Given the description of an element on the screen output the (x, y) to click on. 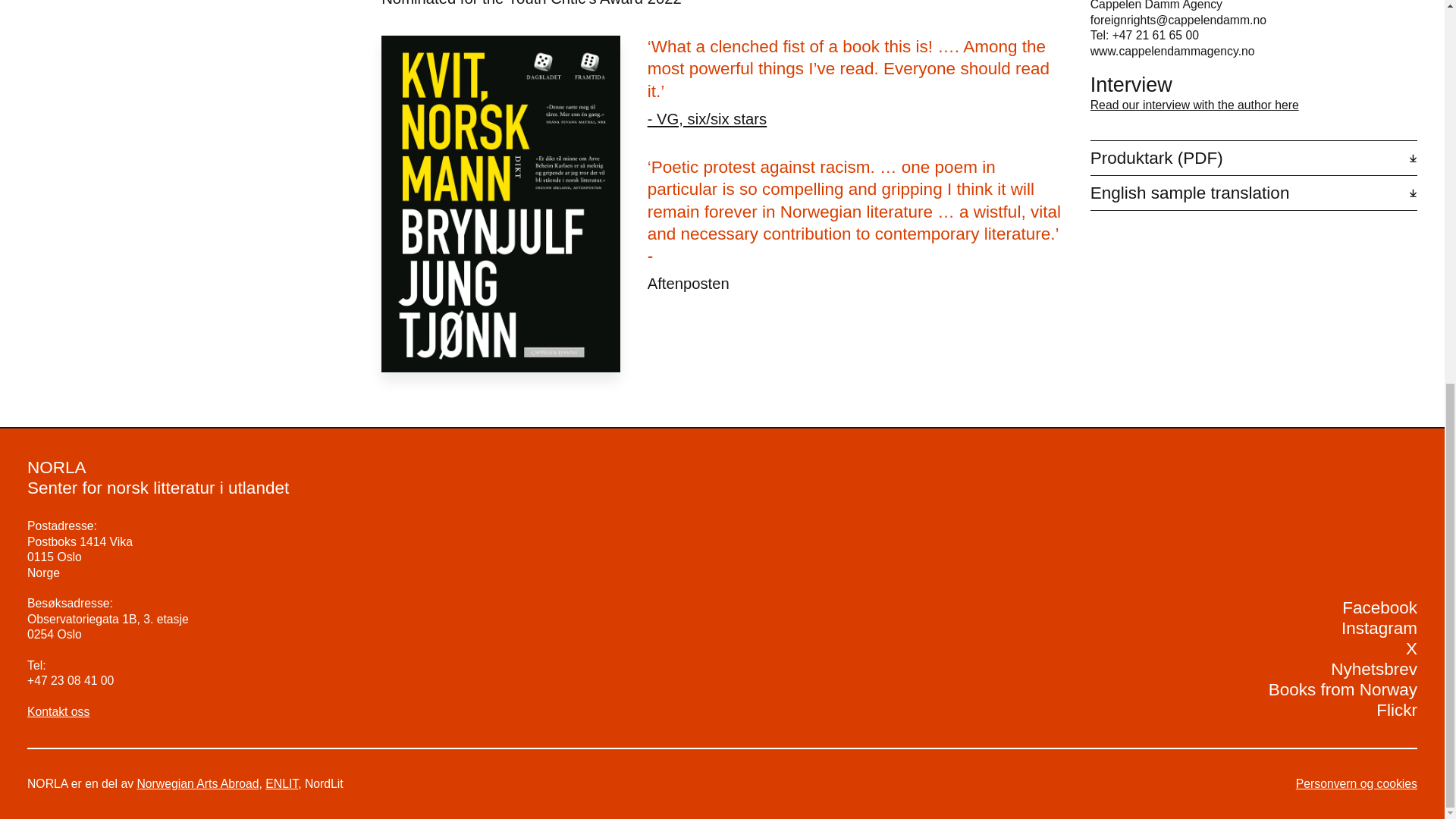
Books from Norway (1342, 689)
Kontakt oss (57, 711)
Nyhetsbrev (1373, 669)
Norwegian Arts Abroad (197, 783)
English sample translation (1253, 192)
Personvern og cookies (1355, 783)
Read our interview with the author here (1194, 104)
Facebook (1379, 607)
Flickr (1395, 710)
ENLIT (281, 783)
